Given the description of an element on the screen output the (x, y) to click on. 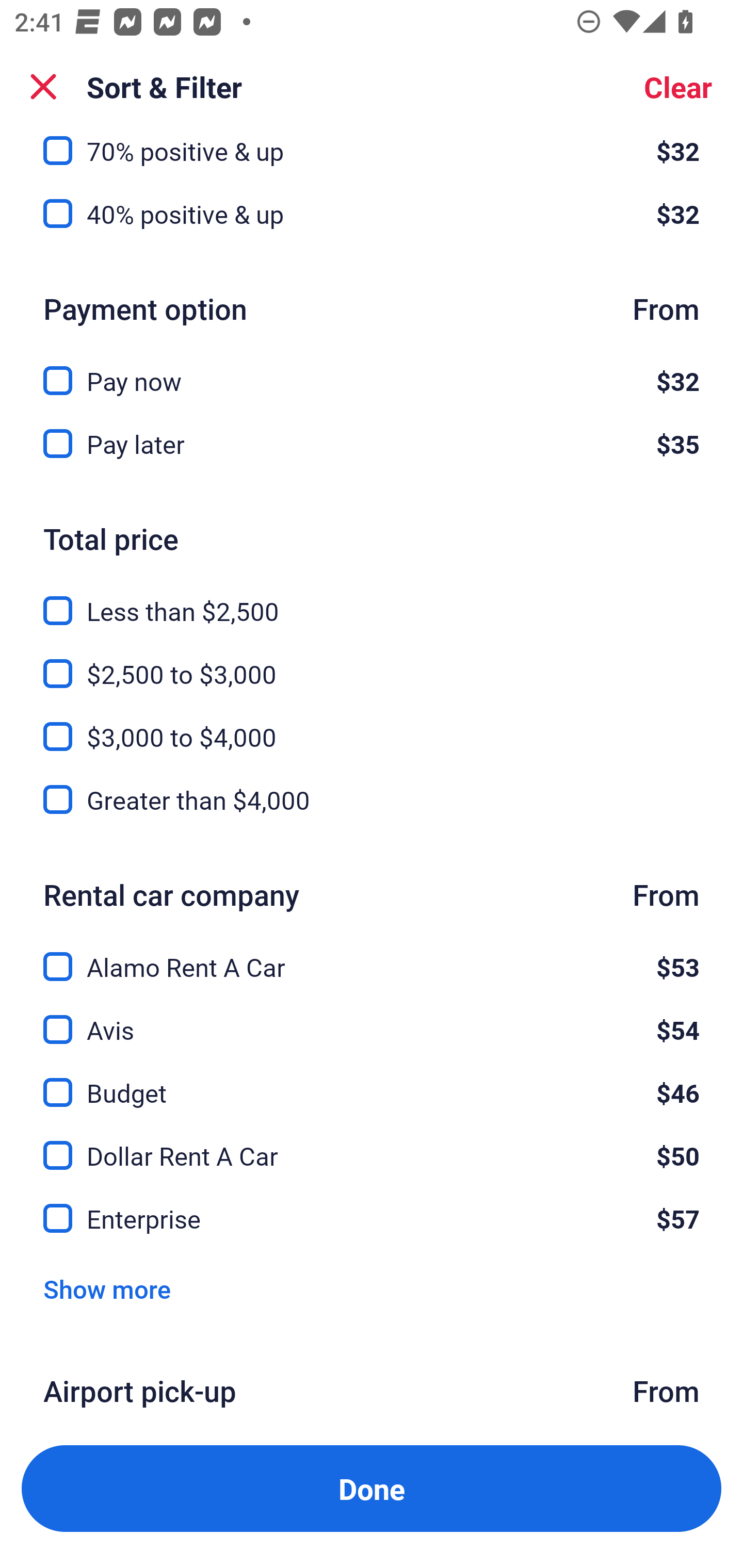
Close Sort and Filter (43, 86)
Clear (677, 86)
70% positive & up, $32 70% positive & up $32 (371, 150)
40% positive & up, $32 40% positive & up $32 (371, 213)
Pay now, $32 Pay now $32 (371, 369)
Pay later, $35 Pay later $35 (371, 444)
Less than $2,500, Less than $2,500 (371, 598)
$2,500 to $3,000, $2,500 to $3,000 (371, 661)
$3,000 to $4,000, $3,000 to $4,000 (371, 725)
Greater than $4,000, Greater than $4,000 (371, 800)
Alamo Rent A Car, $53 Alamo Rent A Car $53 (371, 954)
Avis, $54 Avis $54 (371, 1017)
Budget, $46 Budget $46 (371, 1080)
Dollar Rent A Car, $50 Dollar Rent A Car $50 (371, 1144)
Enterprise, $57 Enterprise $57 (371, 1219)
Show more Show more Link (106, 1288)
Apply and close Sort and Filter Done (371, 1488)
